Given the description of an element on the screen output the (x, y) to click on. 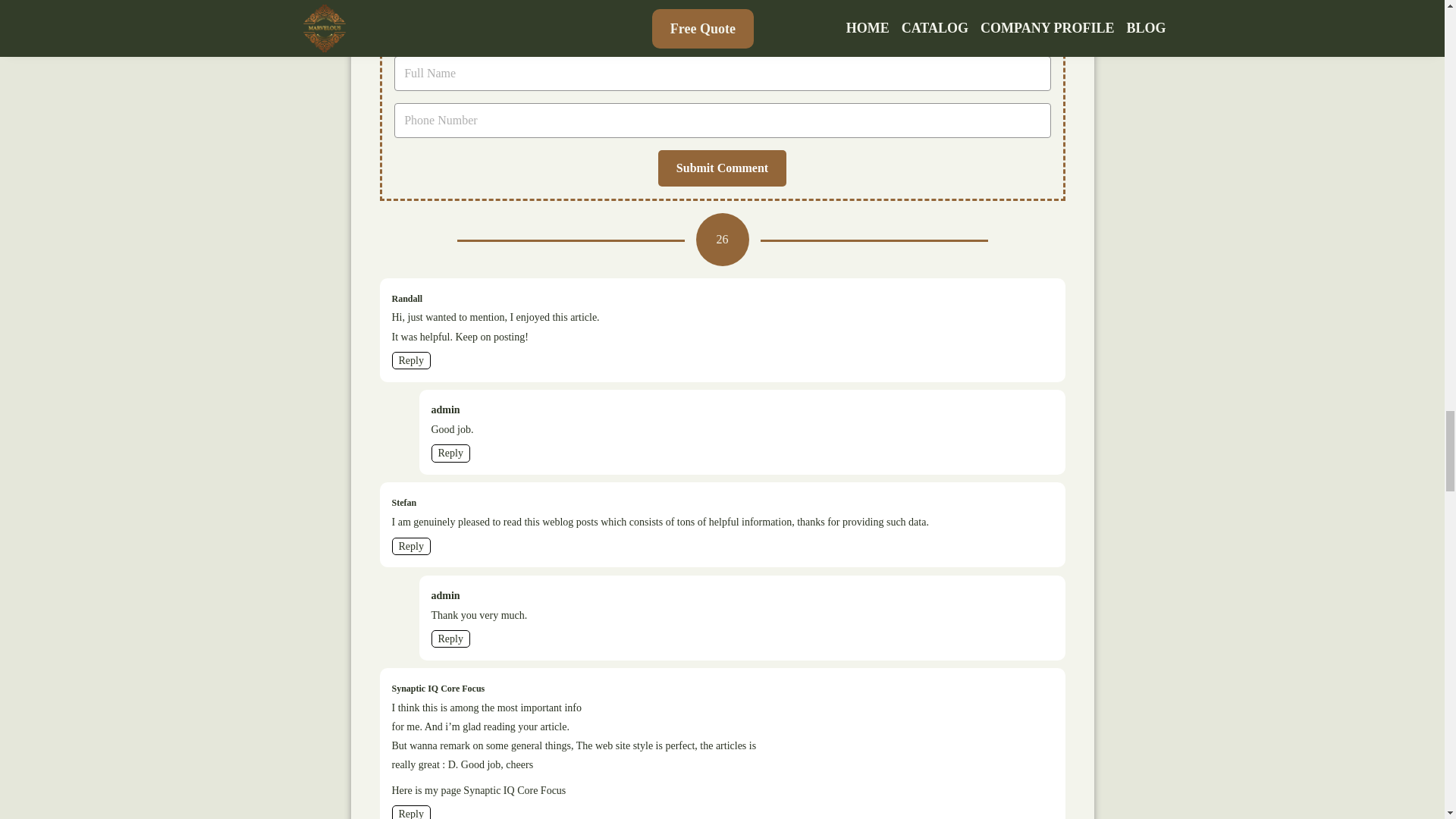
Synaptic IQ Core Focus (514, 790)
Reply (449, 638)
Submit Comment (722, 167)
Reply (410, 546)
Reply (449, 452)
Stefan (403, 502)
Reply (410, 812)
Reply (410, 360)
Synaptic IQ Core Focus (437, 688)
Randall (406, 298)
